Given the description of an element on the screen output the (x, y) to click on. 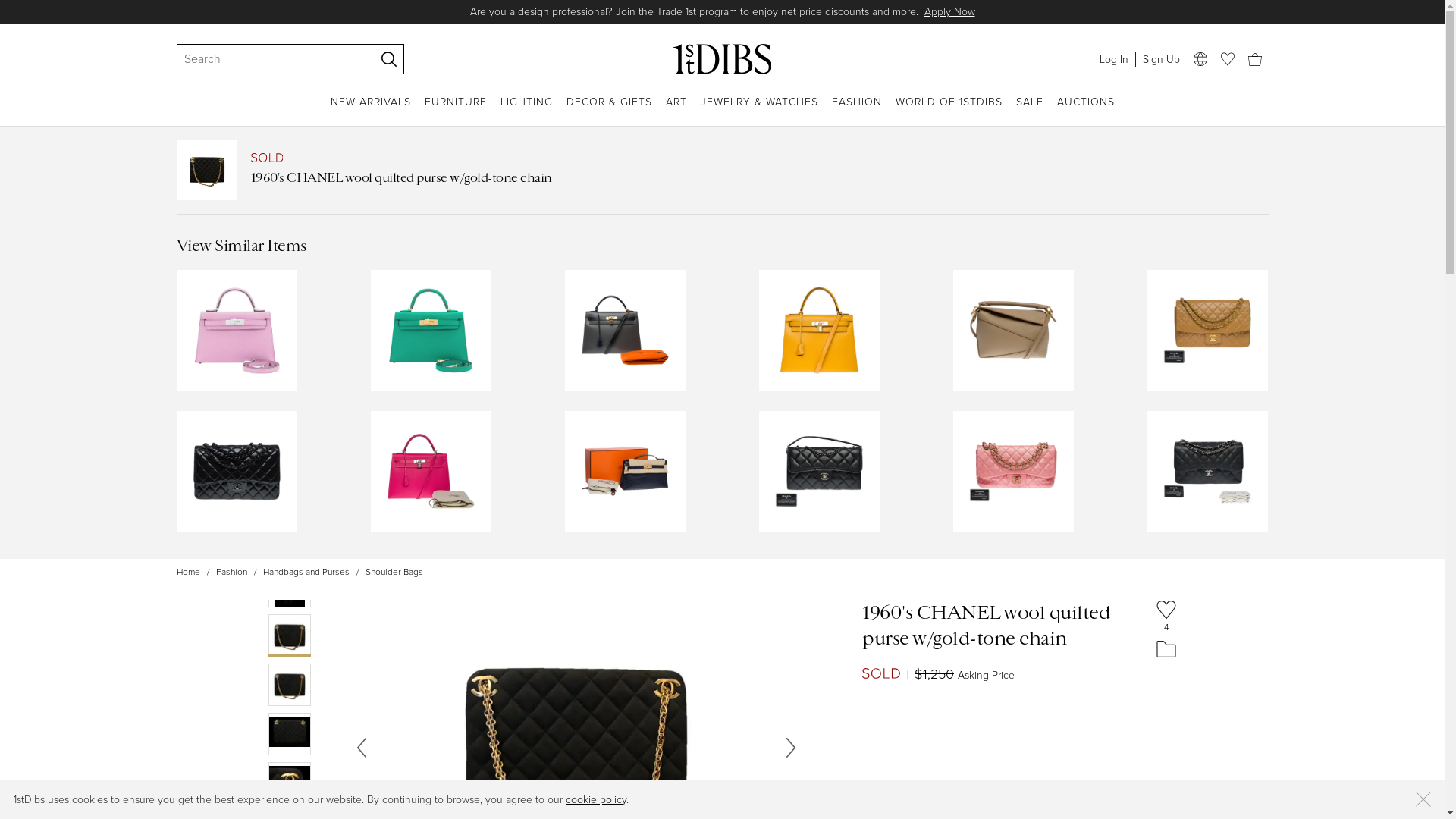
Handbags and Purses Element type: text (305, 571)
WORLD OF 1STDIBS Element type: text (947, 109)
FURNITURE Element type: text (455, 109)
Home Element type: text (187, 571)
Log In Element type: text (1113, 59)
SALE Element type: text (1029, 109)
Search Element type: hover (268, 58)
FASHION Element type: text (856, 109)
LIGHTING Element type: text (526, 109)
cookie policy Element type: text (595, 799)
NEW ARRIVALS Element type: text (370, 109)
Sign Up Element type: text (1160, 59)
AUCTIONS Element type: text (1085, 109)
JEWELRY & WATCHES Element type: text (759, 109)
Shoulder Bags Element type: text (394, 571)
ART Element type: text (676, 109)
DECOR & GIFTS Element type: text (608, 109)
Details Element type: text (885, 11)
SKIP TO MAIN CONTENT Element type: text (6, 6)
Fashion Element type: text (230, 571)
